Given the description of an element on the screen output the (x, y) to click on. 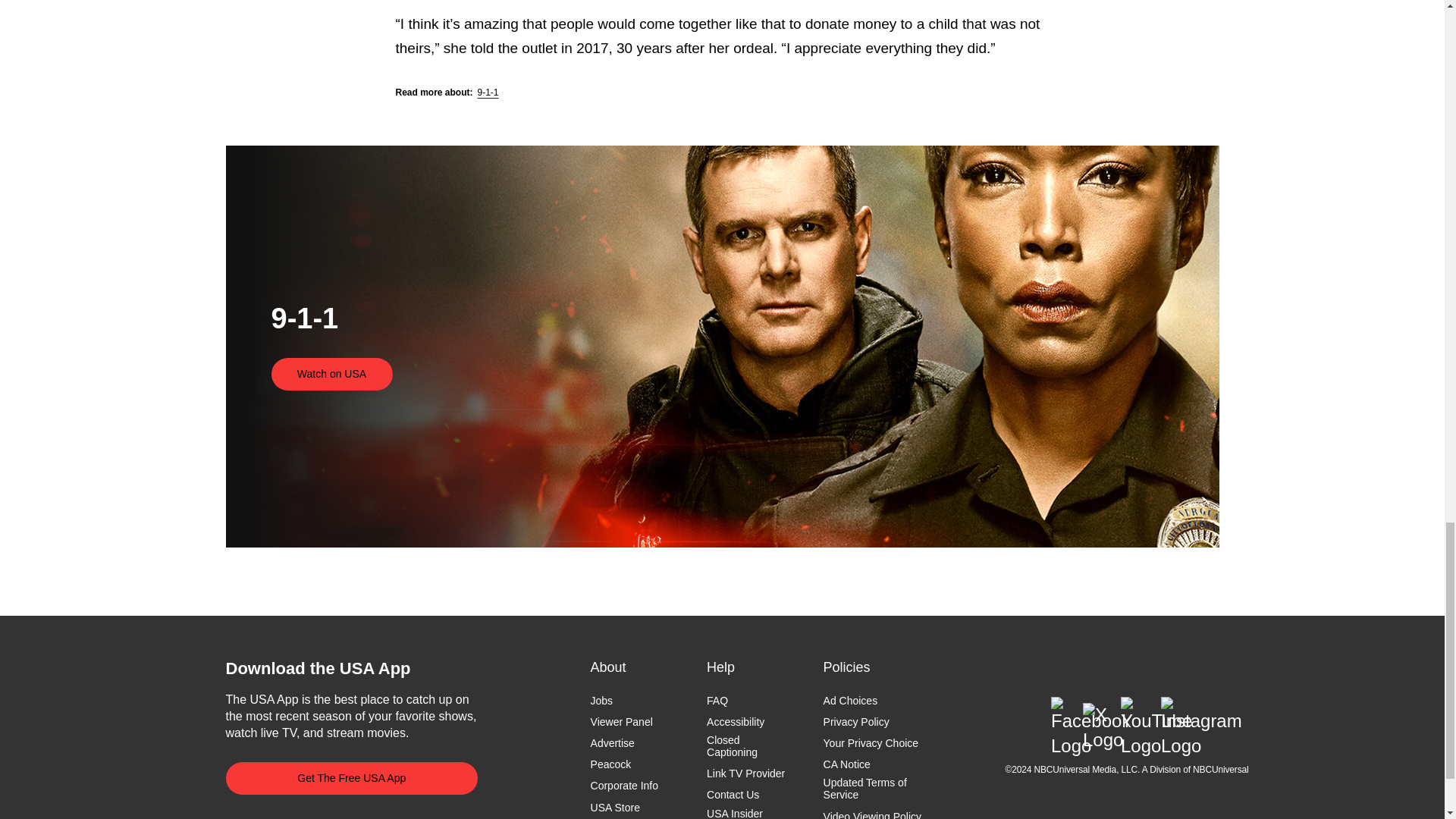
Watch on USA (331, 373)
Peacock (611, 764)
Advertise (612, 743)
Get The Free USA App (352, 778)
9-1-1 (488, 91)
Jobs (601, 700)
Viewer Panel (621, 721)
